Given the description of an element on the screen output the (x, y) to click on. 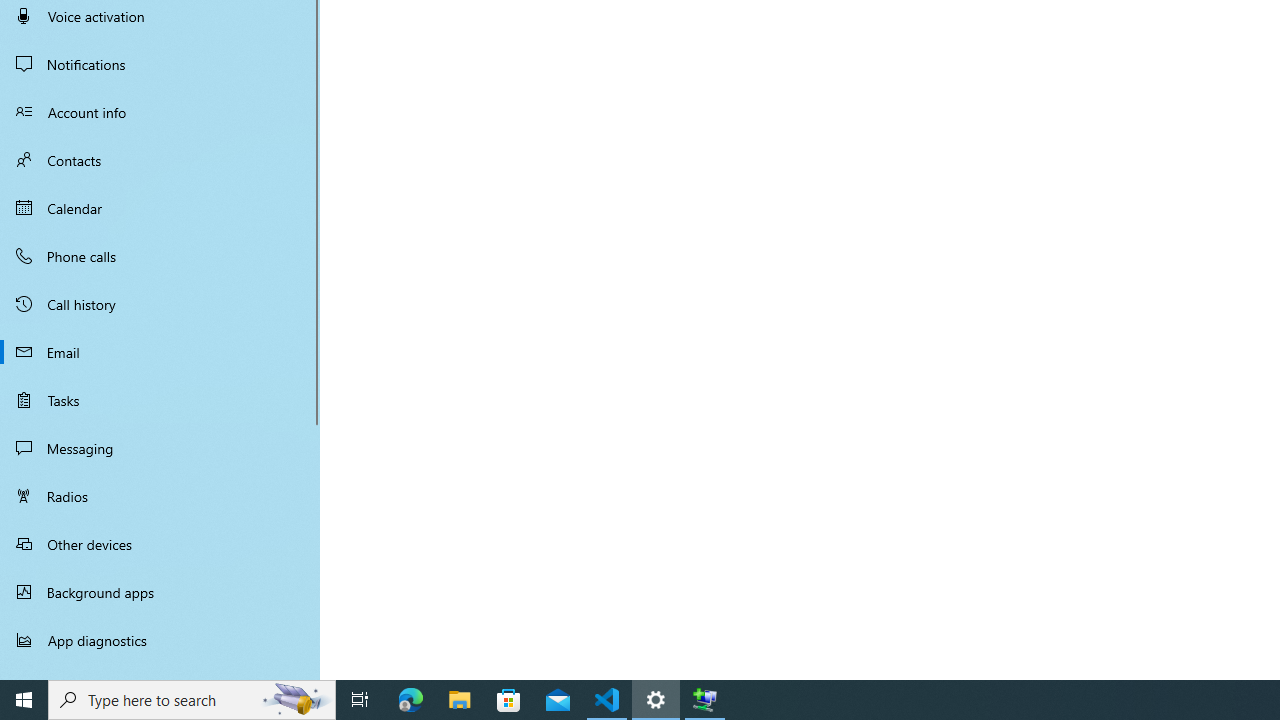
Microsoft Store (509, 699)
Start (24, 699)
Visual Studio Code - 1 running window (607, 699)
File Explorer (460, 699)
Messaging (160, 448)
Account info (160, 111)
Email (160, 351)
Microsoft Edge (411, 699)
Type here to search (191, 699)
Call history (160, 304)
